Given the description of an element on the screen output the (x, y) to click on. 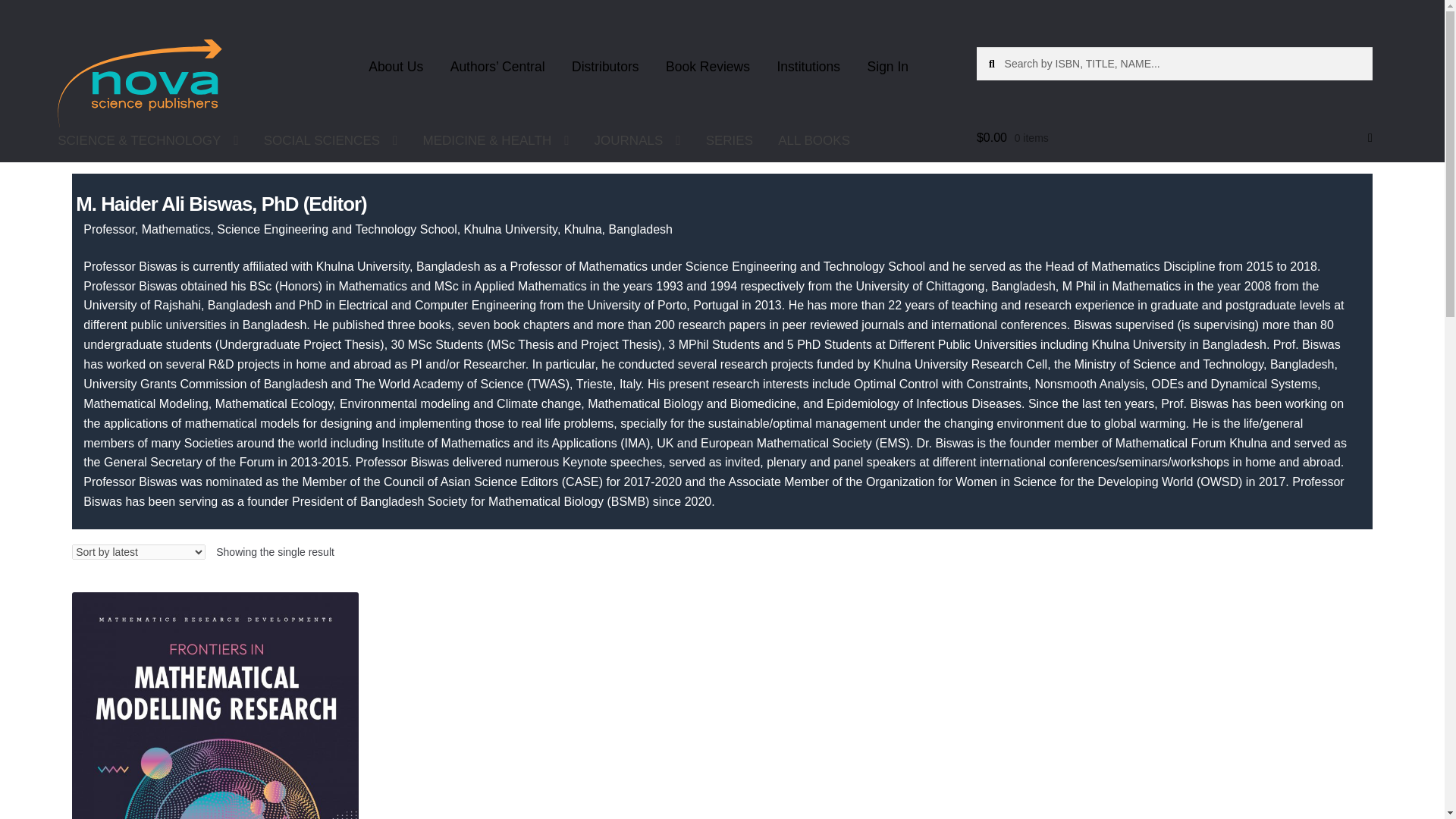
Book Reviews (707, 66)
Sign In (888, 66)
About Us (395, 66)
View your shopping cart (1174, 137)
Institutions (808, 66)
SOCIAL SCIENCES (330, 140)
Distributors (605, 66)
